Given the description of an element on the screen output the (x, y) to click on. 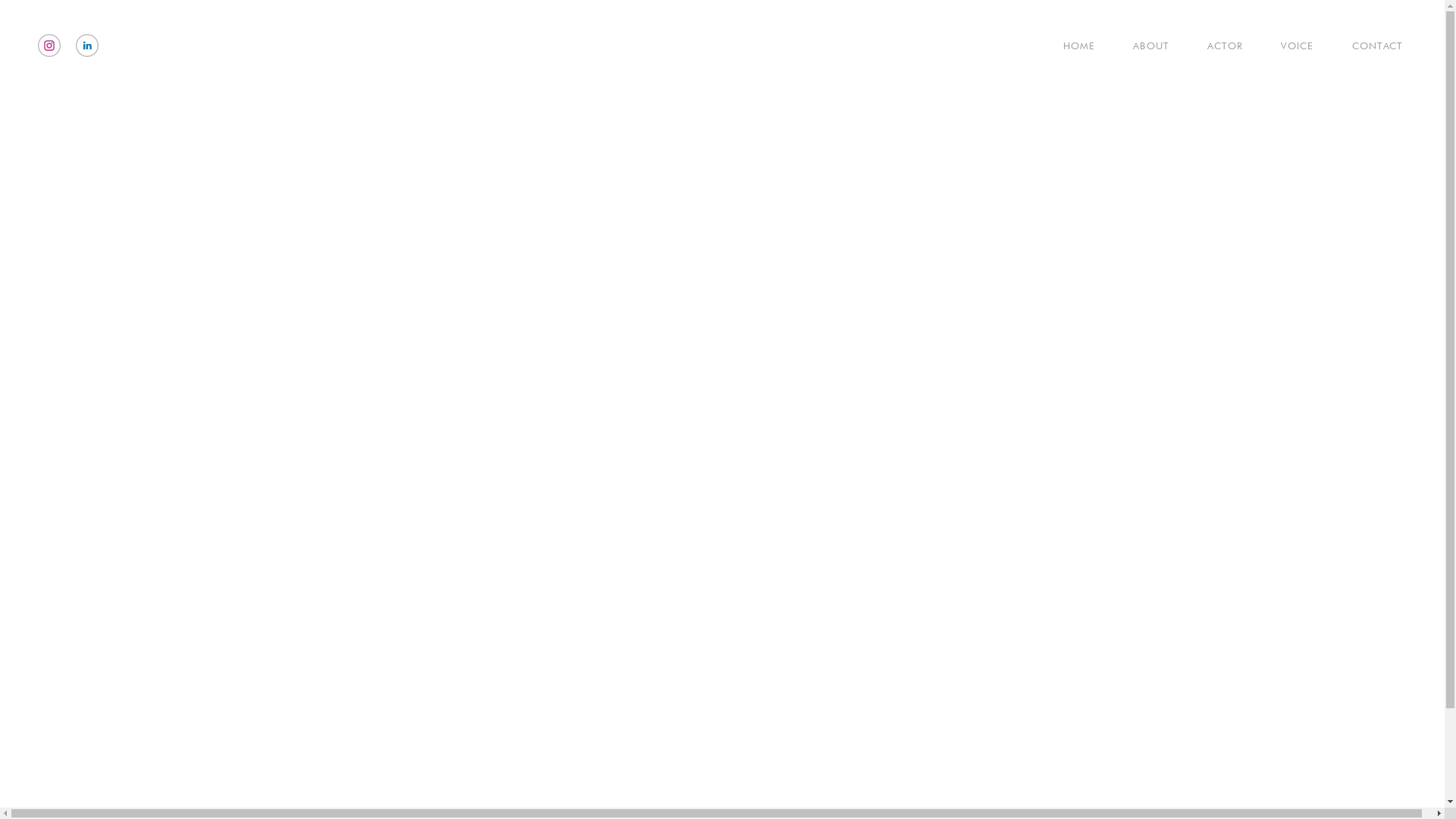
ABOUT Element type: text (1135, 45)
CONTACT Element type: text (1361, 45)
HOME Element type: text (1063, 45)
VOICE Element type: text (1281, 45)
ACTOR Element type: text (1209, 45)
